Given the description of an element on the screen output the (x, y) to click on. 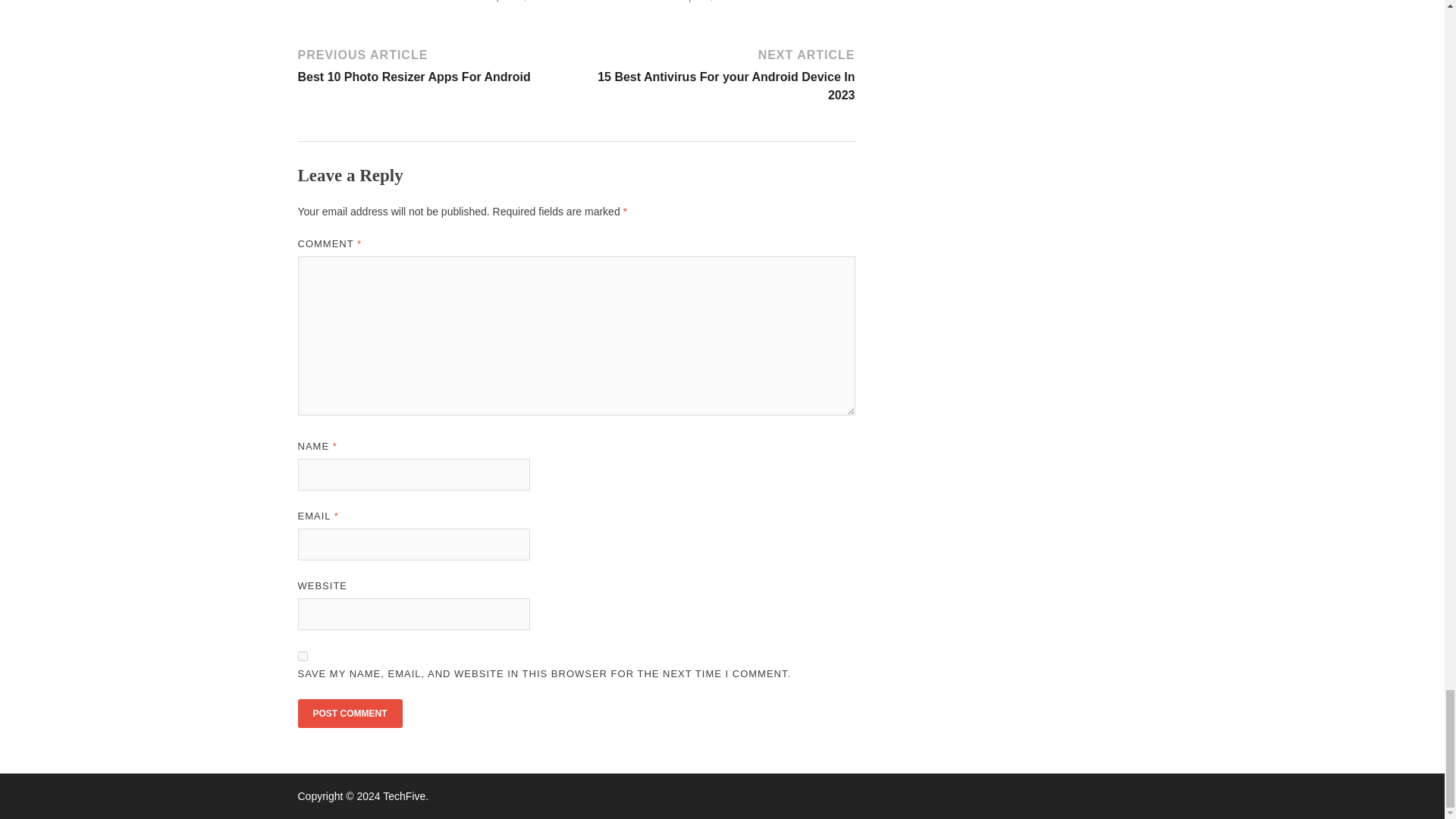
Post Comment (349, 713)
yes (302, 655)
TechFive (403, 796)
